Given the description of an element on the screen output the (x, y) to click on. 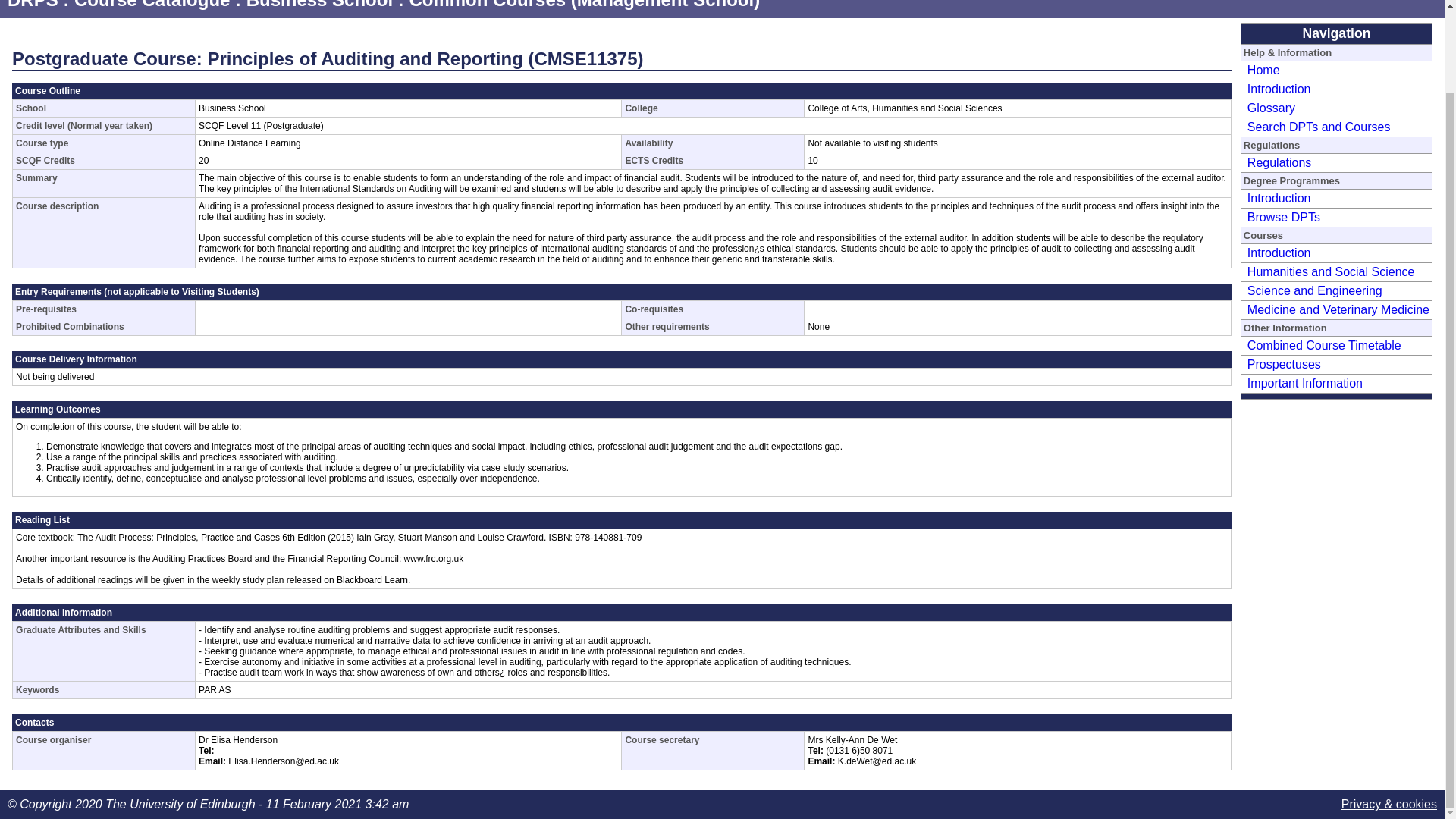
Science and Engineering (1312, 290)
Glossary (1269, 107)
Regulations (1277, 162)
Humanities and Social Science (1329, 271)
Home (1261, 69)
Business School (319, 4)
Introduction (1277, 252)
DRPS (32, 4)
Introduction (1277, 197)
Prospectuses (1281, 364)
